Given the description of an element on the screen output the (x, y) to click on. 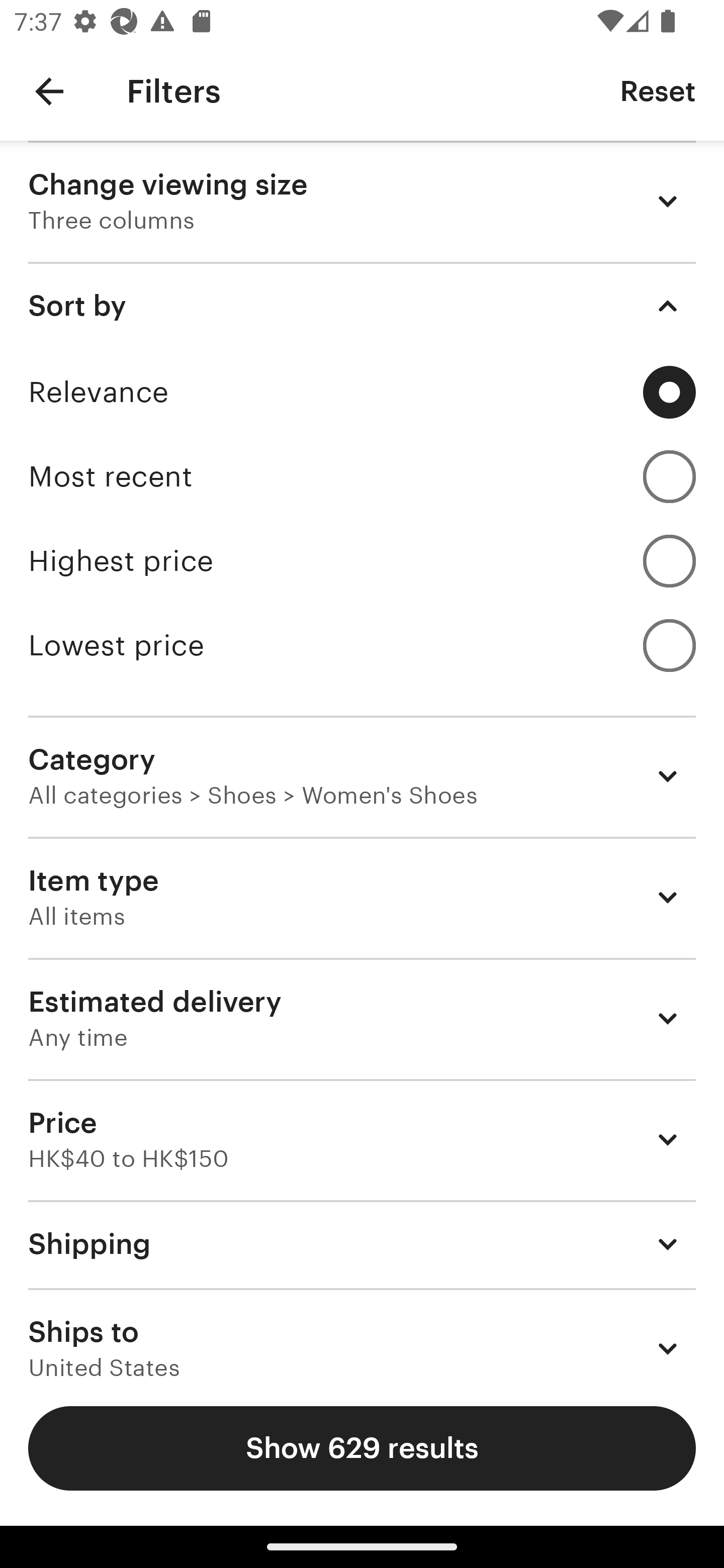
Navigate up (49, 91)
Reset (657, 90)
Change viewing size Three columns (362, 201)
Sort by (362, 305)
Relevance (362, 391)
Most recent (362, 476)
Highest price (362, 561)
Lowest price (362, 644)
Category All categories > Shoes > Women's Shoes (362, 776)
Item type All items (362, 897)
Estimated delivery Any time (362, 1018)
Price HK$40 to HK$150 (362, 1138)
Shipping (362, 1243)
Ships to United States (362, 1332)
Show 629 results Show results (361, 1448)
